Given the description of an element on the screen output the (x, y) to click on. 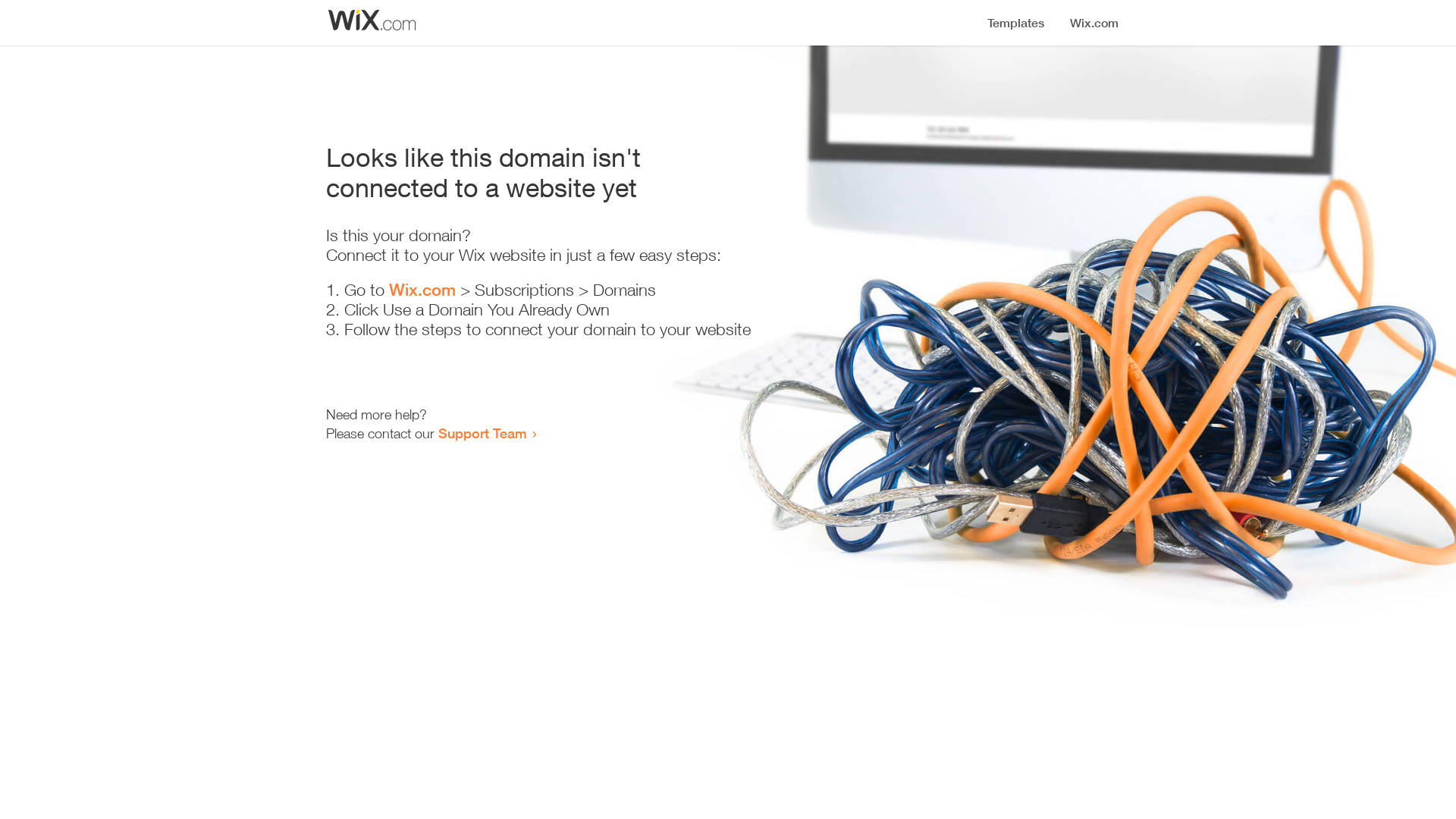
Wix.com Element type: text (422, 289)
Support Team Element type: text (482, 432)
